Given the description of an element on the screen output the (x, y) to click on. 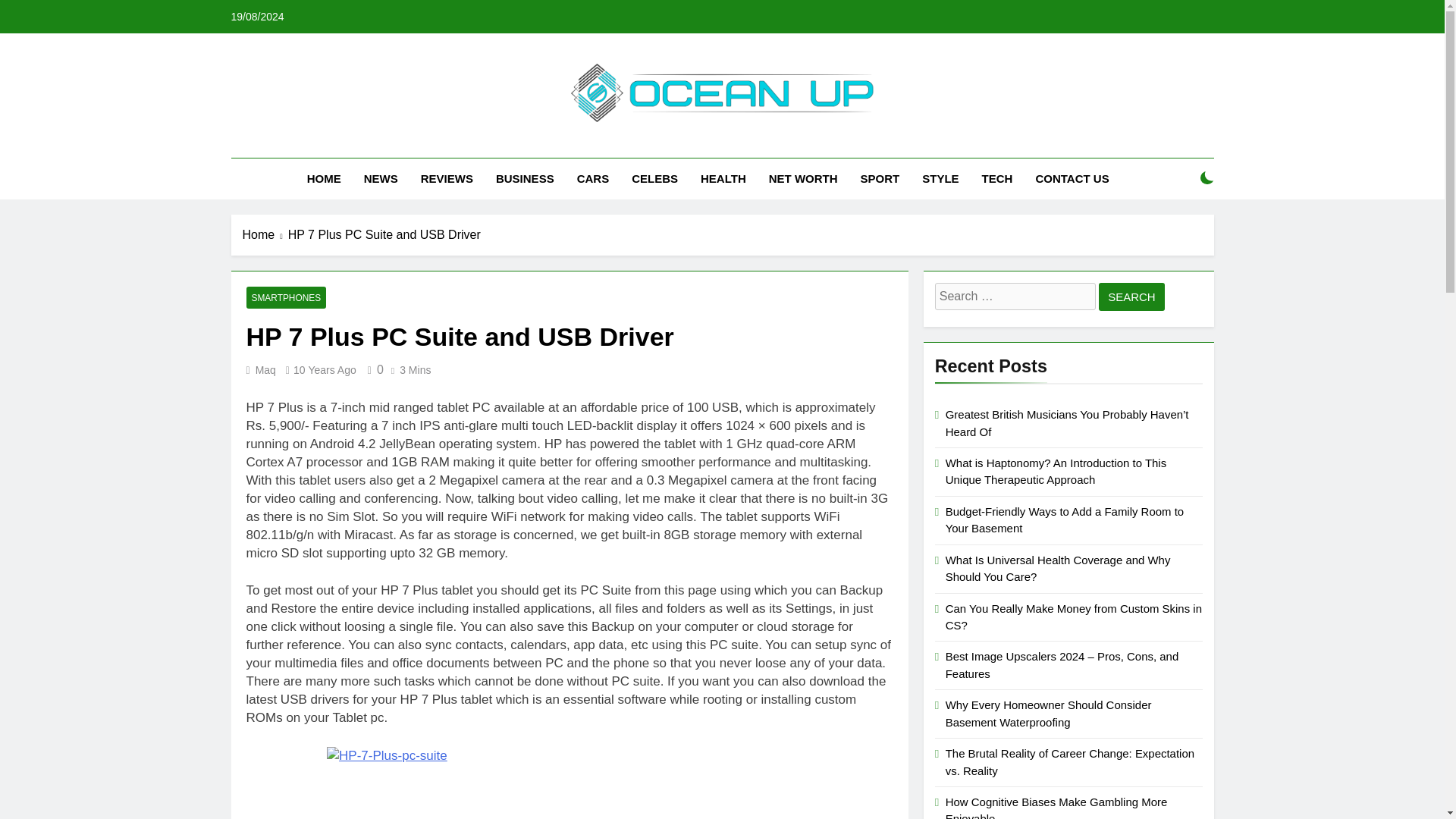
CARS (593, 178)
SPORT (879, 178)
HOME (323, 178)
CELEBS (654, 178)
REVIEWS (446, 178)
SMARTPHONES (286, 297)
STYLE (940, 178)
Home (265, 235)
Oceanup (545, 143)
NEWS (380, 178)
